Given the description of an element on the screen output the (x, y) to click on. 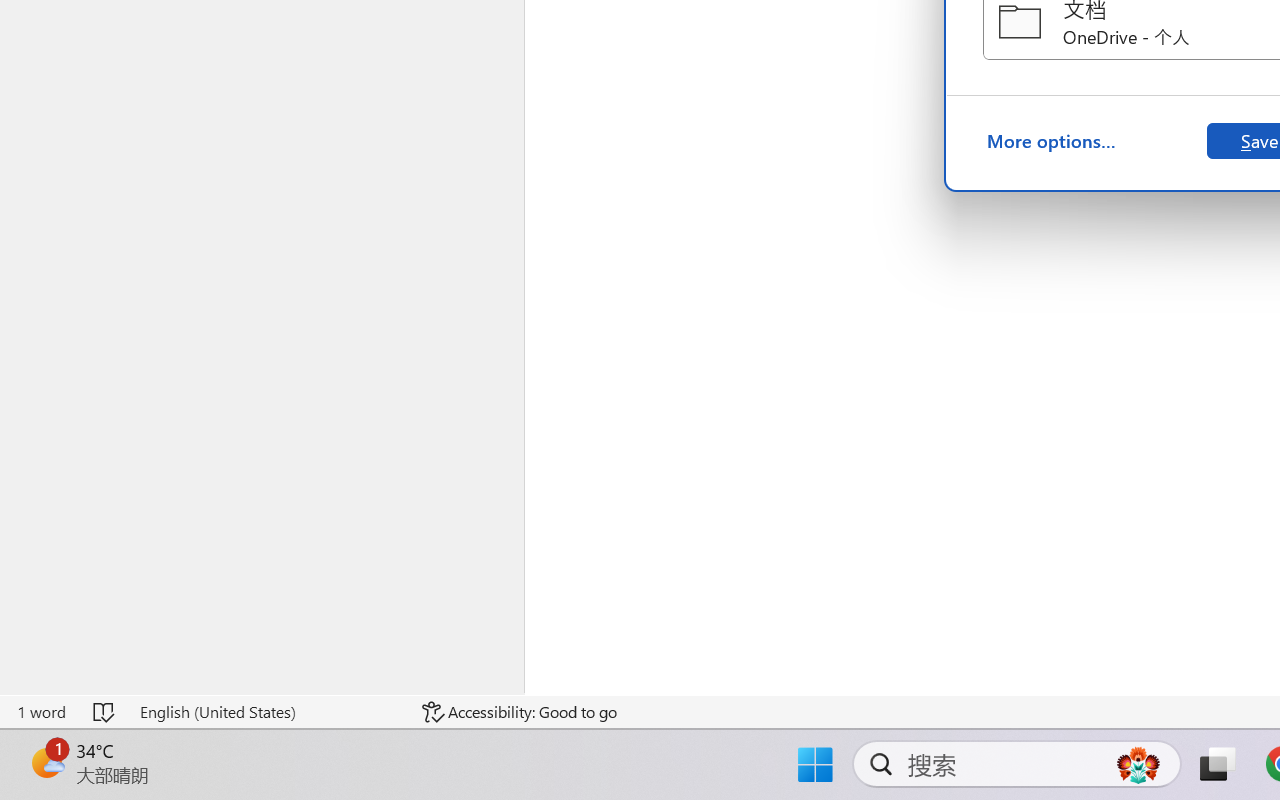
Spelling and Grammar Check No Errors (105, 712)
Language English (United States) (267, 712)
AutomationID: DynamicSearchBoxGleamImage (1138, 764)
Word Count 1 word (41, 712)
Class: Image (46, 743)
AutomationID: BadgeAnchorLargeTicker (46, 762)
Accessibility Checker Accessibility: Good to go (519, 712)
